Given the description of an element on the screen output the (x, y) to click on. 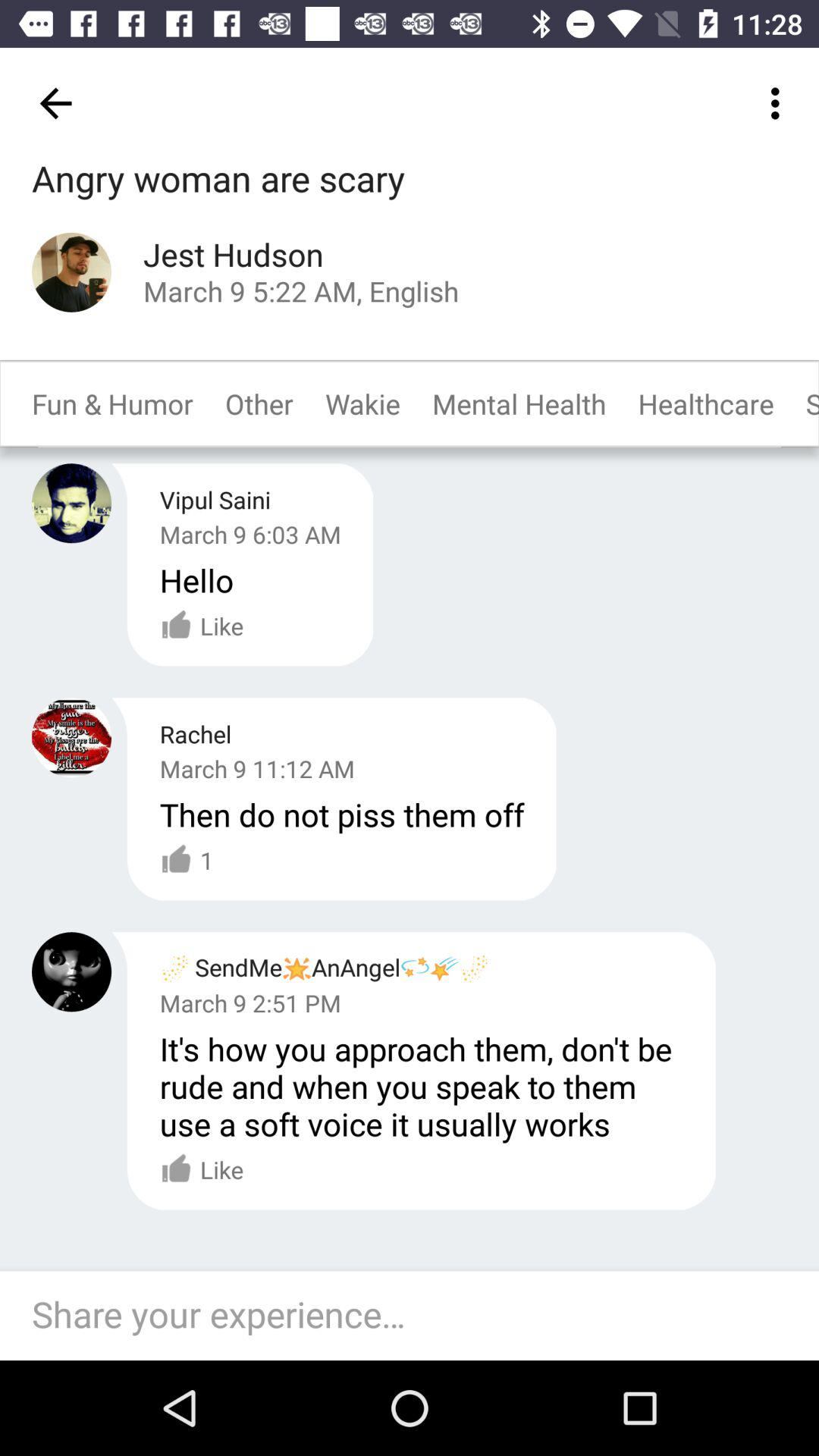
zoom in on profile image (71, 272)
